Given the description of an element on the screen output the (x, y) to click on. 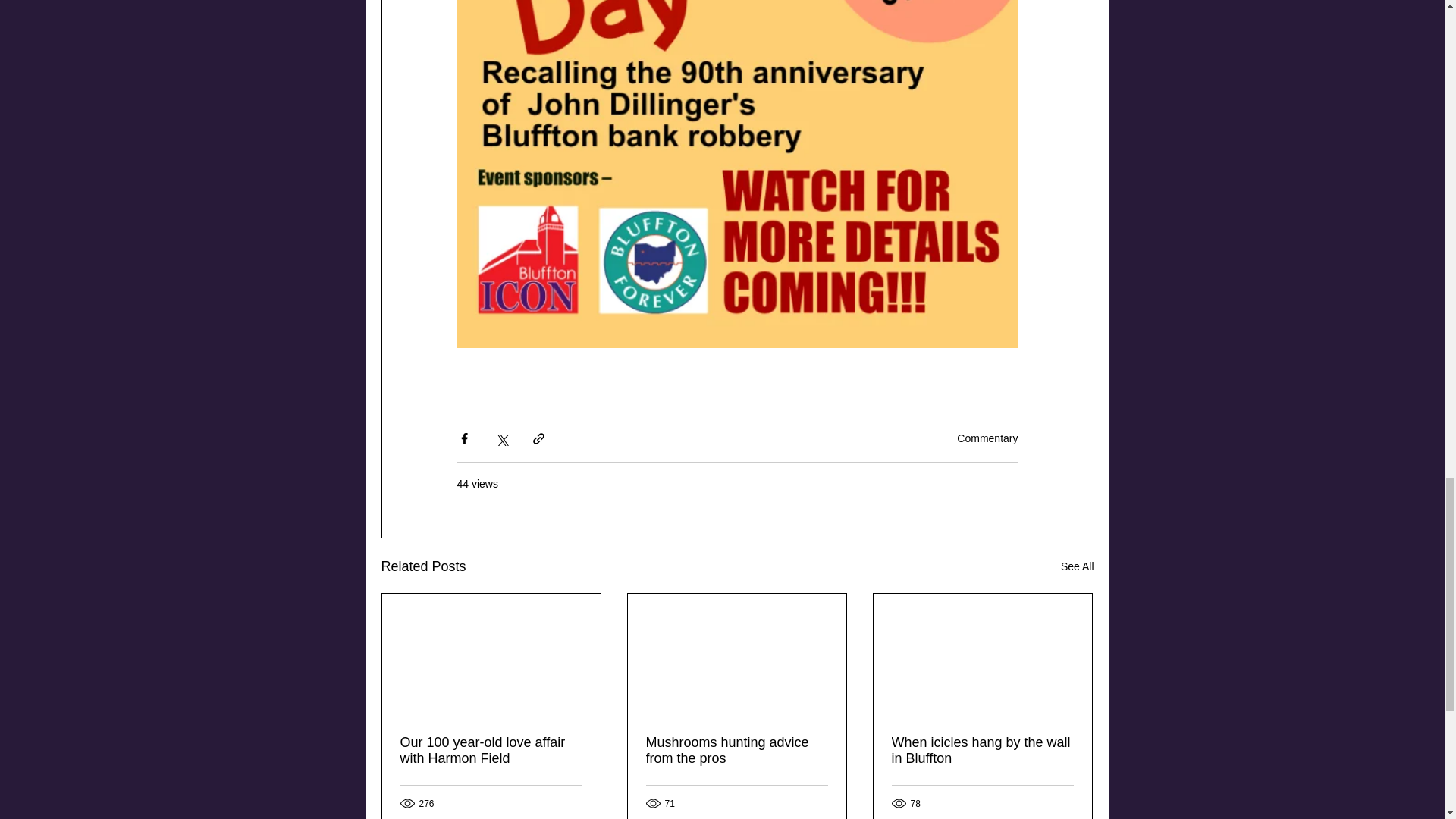
See All (1077, 567)
Commentary (986, 438)
Our 100 year-old love affair with Harmon Field (491, 750)
Mushrooms hunting advice from the pros (737, 750)
